Given the description of an element on the screen output the (x, y) to click on. 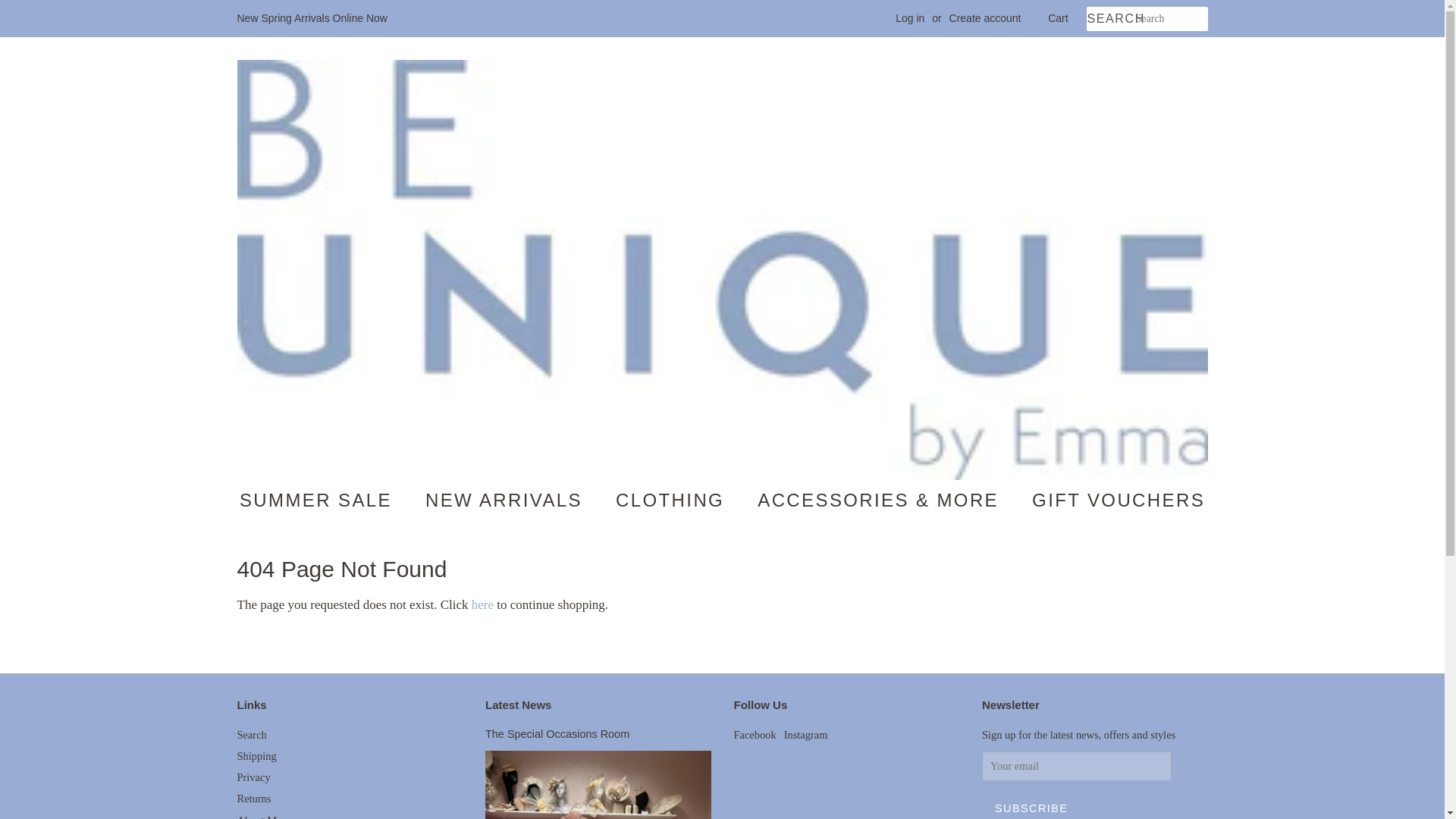
New Spring Arrivals Online Now (311, 18)
Log in (909, 18)
Be Unique By Emma on Instagram (806, 734)
Cart (1057, 18)
Create account (985, 18)
Be Unique By Emma on Facebook (754, 734)
Subscribe (1030, 805)
SEARCH (1110, 18)
